Given the description of an element on the screen output the (x, y) to click on. 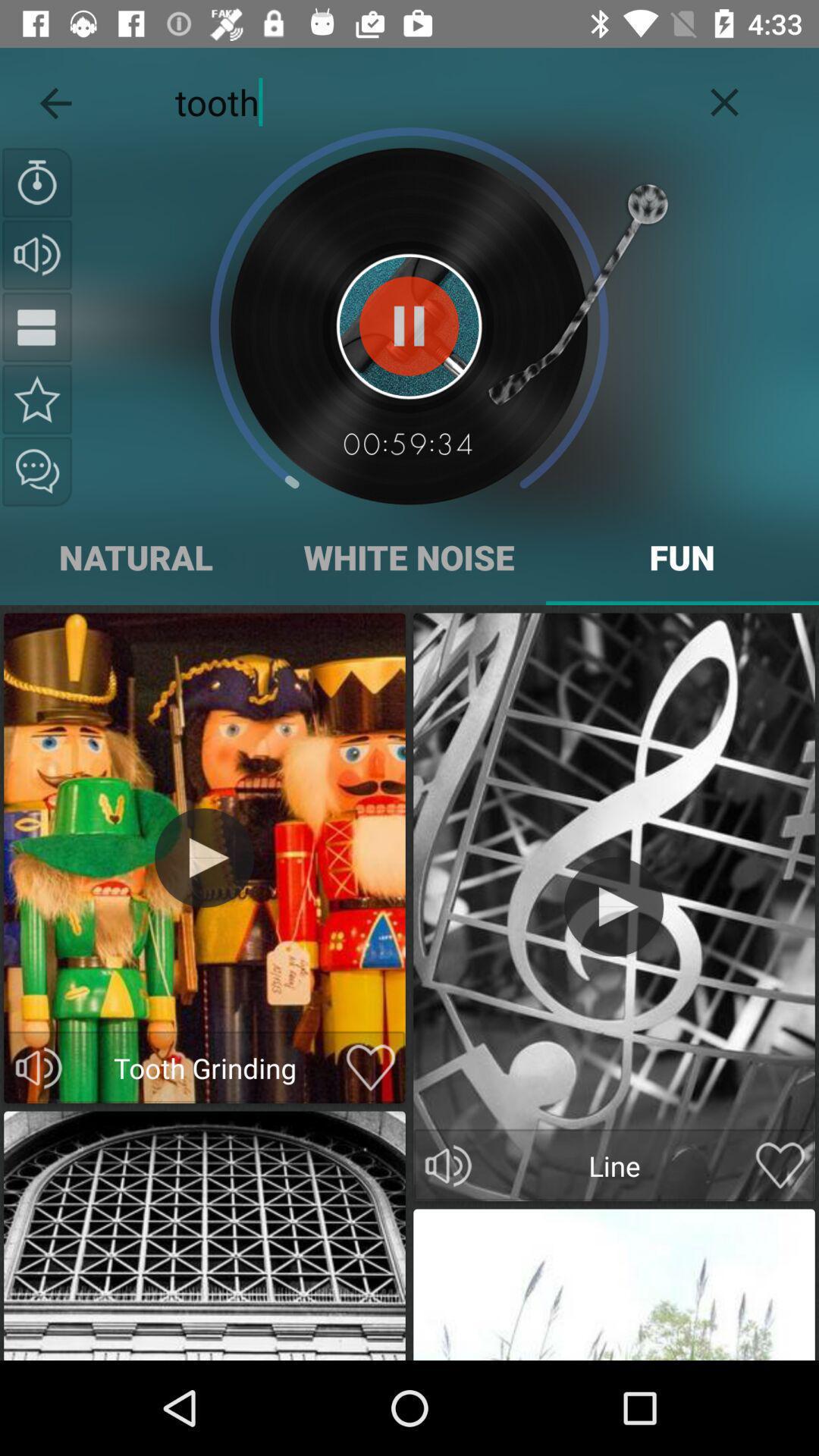
volume level adjustment option (448, 1166)
